Given the description of an element on the screen output the (x, y) to click on. 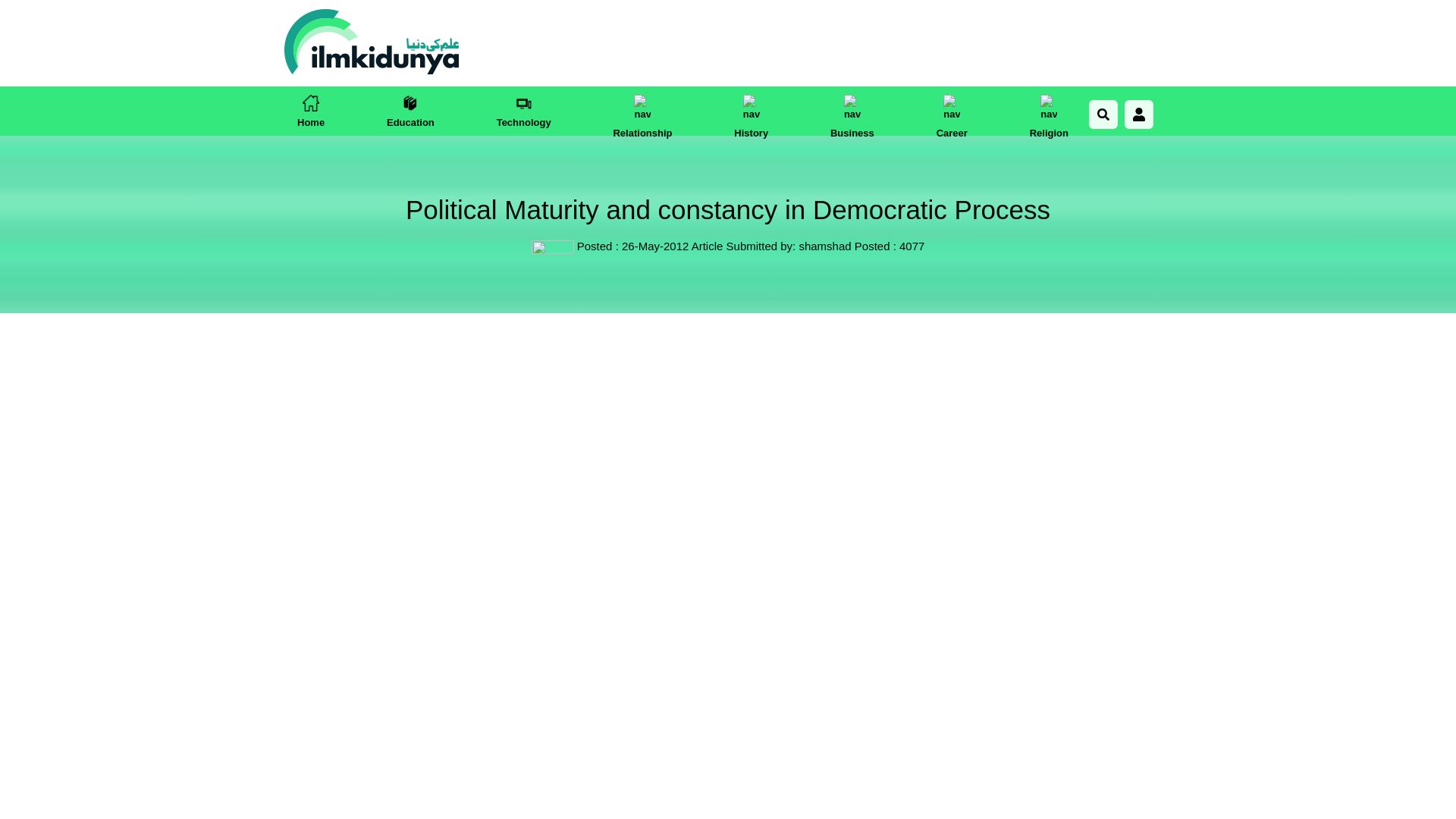
Business (852, 115)
Education (410, 110)
Career (952, 115)
History (750, 115)
Relationship (641, 115)
Technology (523, 110)
Home (311, 110)
Religion (1048, 115)
